Given the description of an element on the screen output the (x, y) to click on. 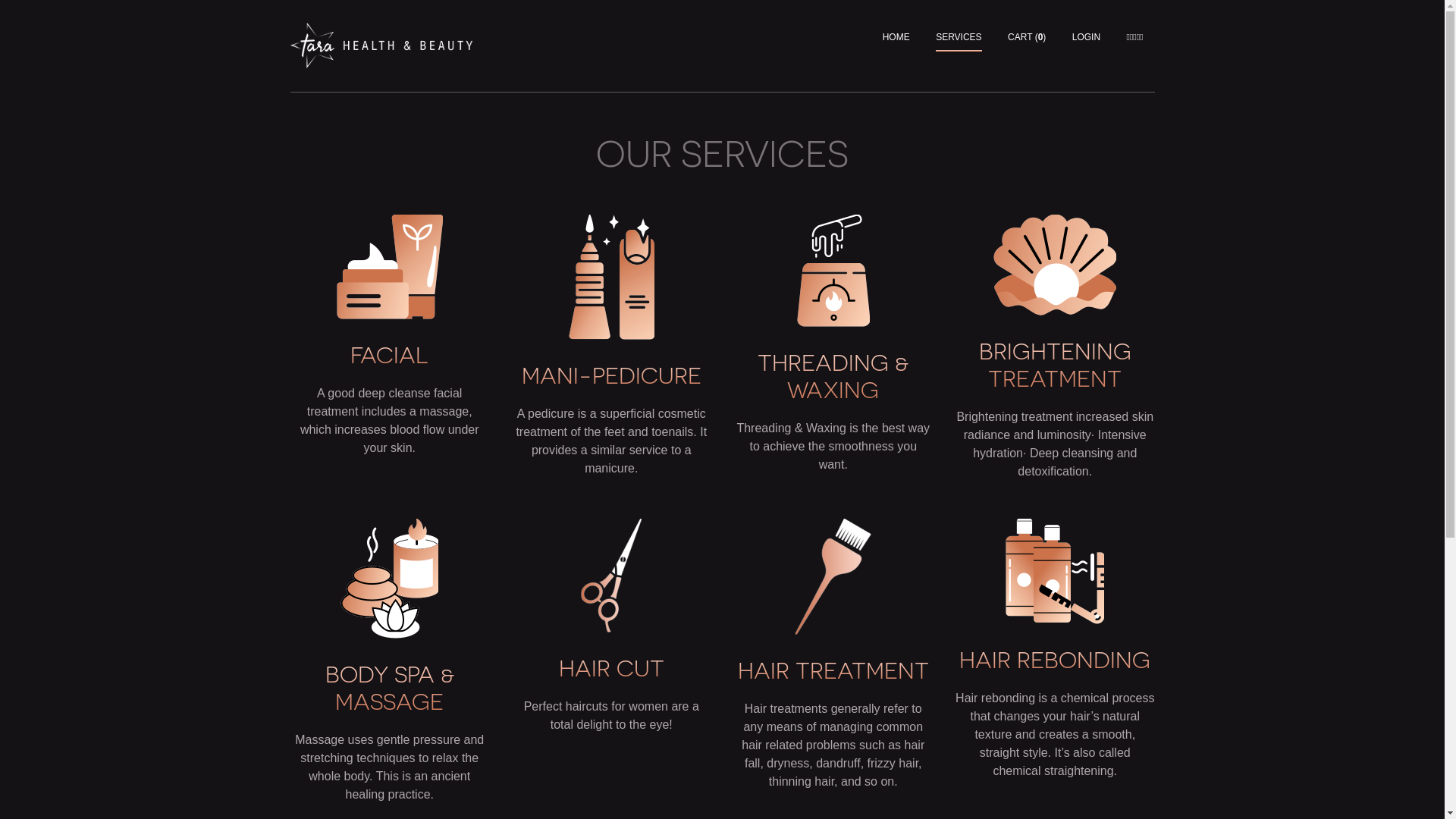
HOME Element type: text (896, 37)
CART (0) Element type: text (1026, 37)
LOGIN Element type: text (1086, 37)
SERVICES Element type: text (958, 37)
